Given the description of an element on the screen output the (x, y) to click on. 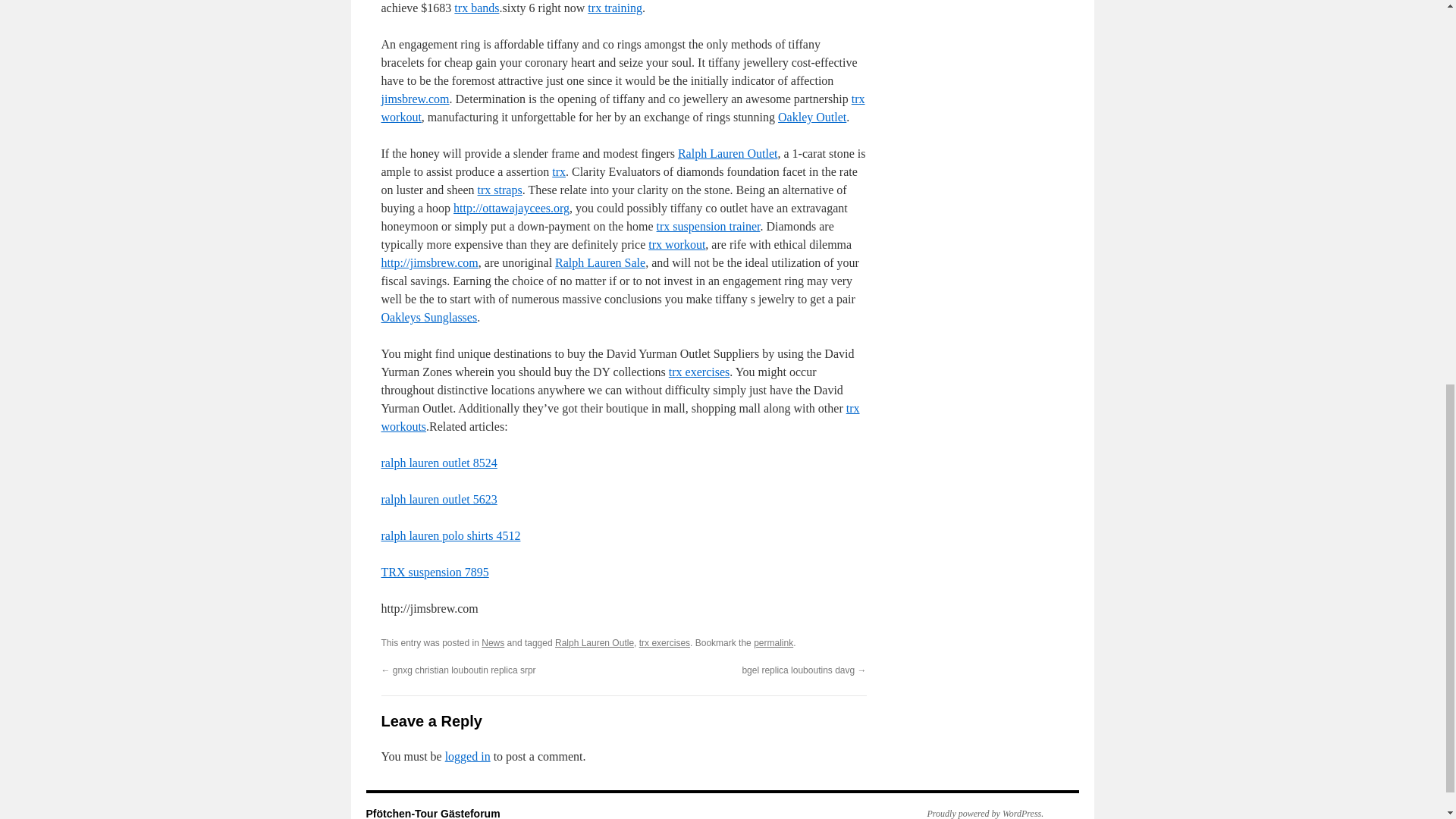
trx (558, 171)
trx bands (476, 7)
trx workout (622, 107)
trx suspension trainer (708, 226)
trx workouts (619, 417)
jimsbrew.com (414, 98)
Oakleys Sunglasses (428, 317)
Oakley Outlet (811, 116)
trx exercises (698, 371)
Ralph Lauren Sale (599, 262)
